Given the description of an element on the screen output the (x, y) to click on. 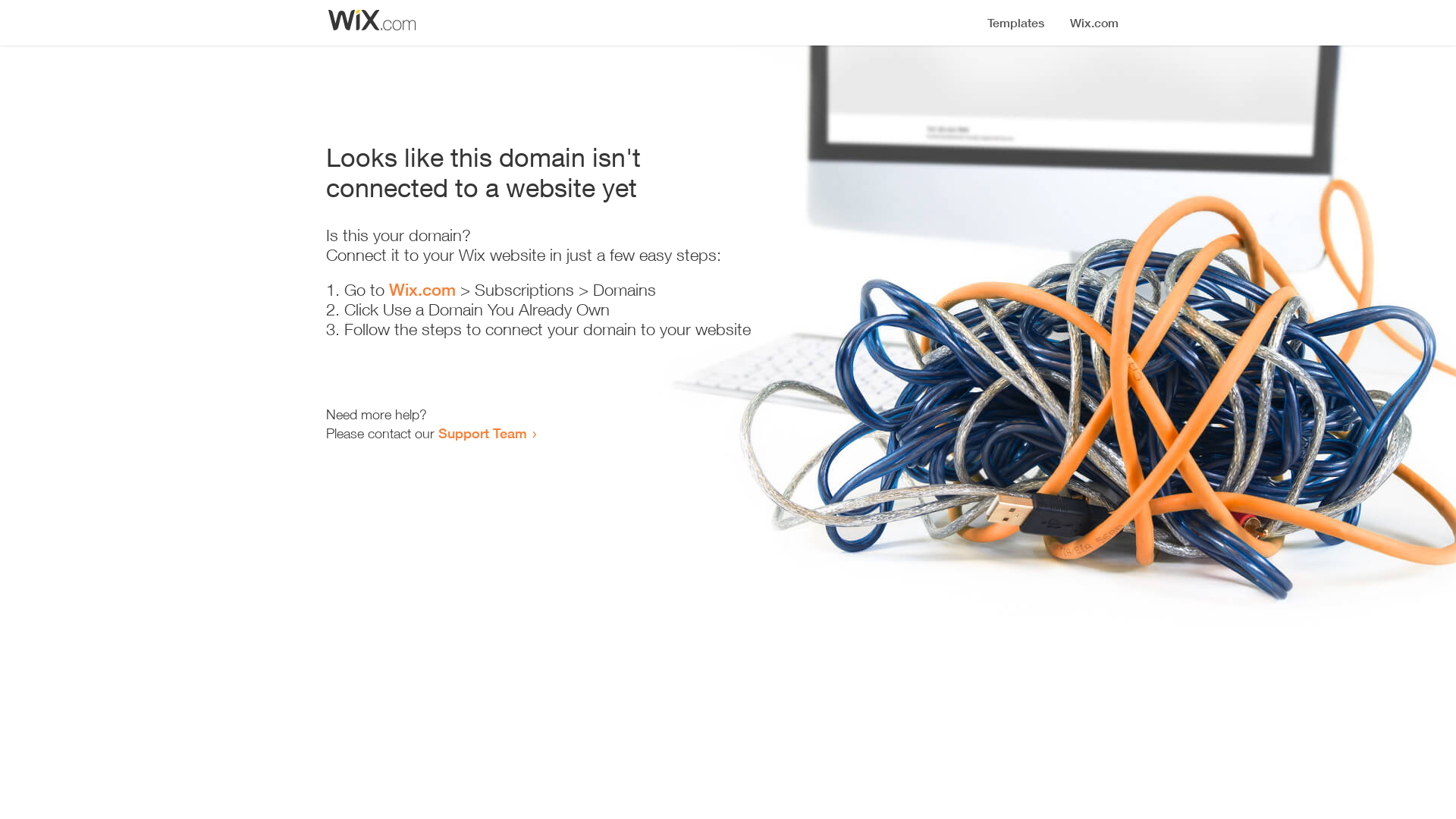
Support Team Element type: text (482, 432)
Wix.com Element type: text (422, 289)
